Given the description of an element on the screen output the (x, y) to click on. 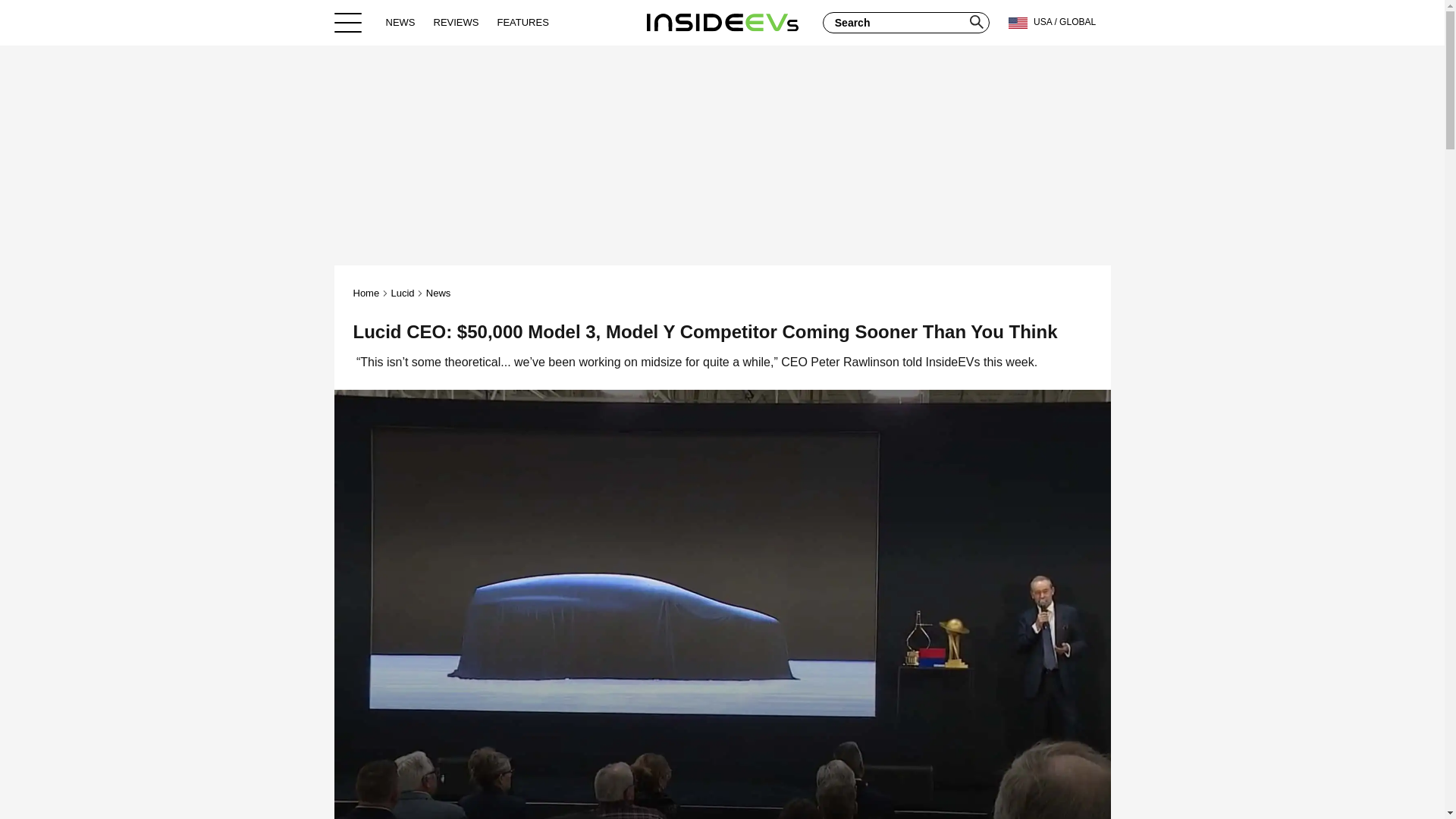
Home (366, 293)
Lucid (401, 292)
News (438, 292)
Home (721, 22)
NEWS (399, 22)
FEATURES (522, 22)
REVIEWS (456, 22)
